Given the description of an element on the screen output the (x, y) to click on. 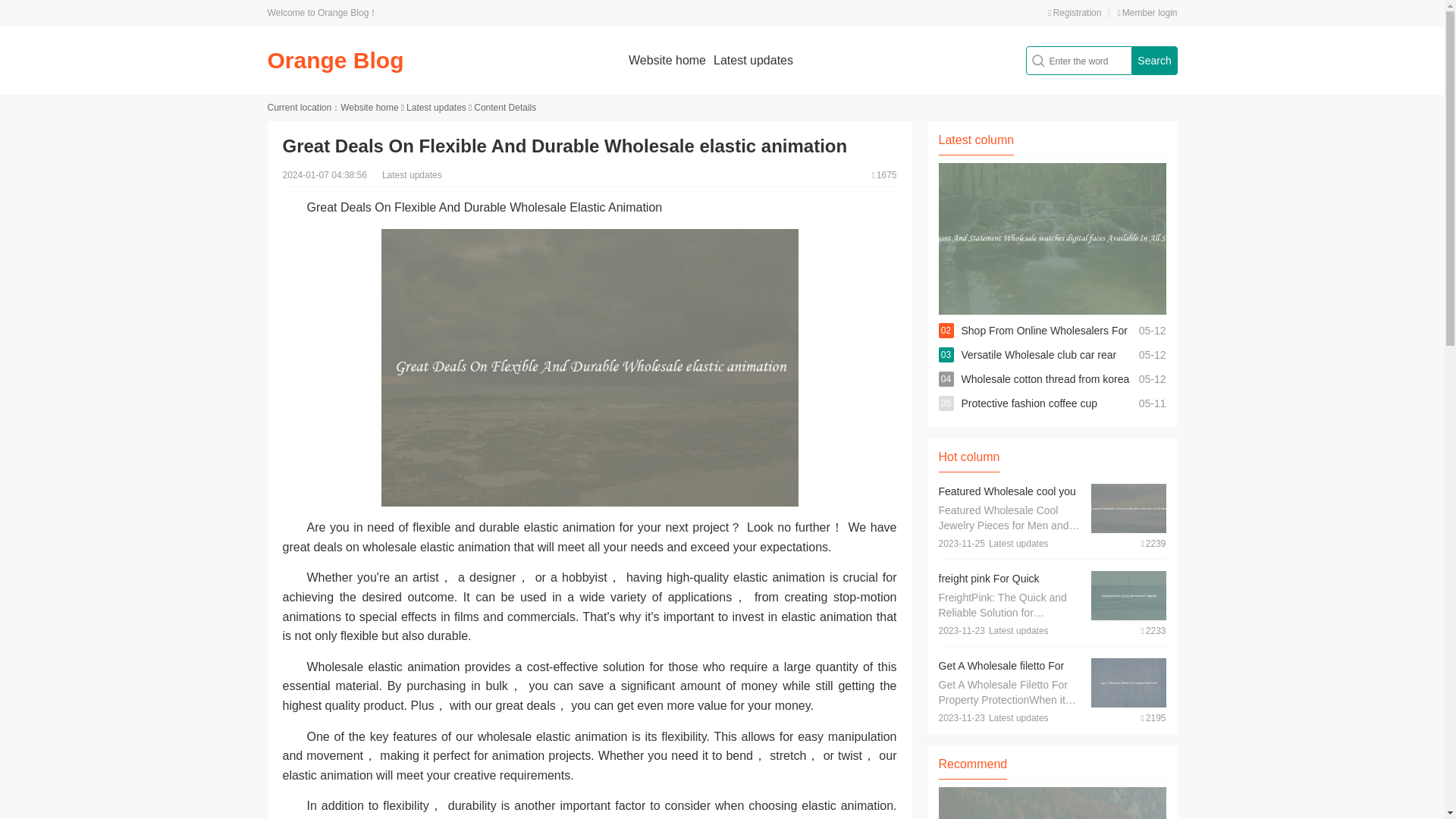
Featured Wholesale cool you jewelry pieces For Men and Women (1007, 506)
freight pink For Quick International Shipping (990, 585)
Protective fashion coffee cup coaster For The Dining Table (1028, 415)
Website home (667, 60)
Shop From Online Wholesalers For frp driveway cover (1043, 342)
Registration (1074, 12)
Search (1153, 60)
Latest updates (435, 107)
